Given the description of an element on the screen output the (x, y) to click on. 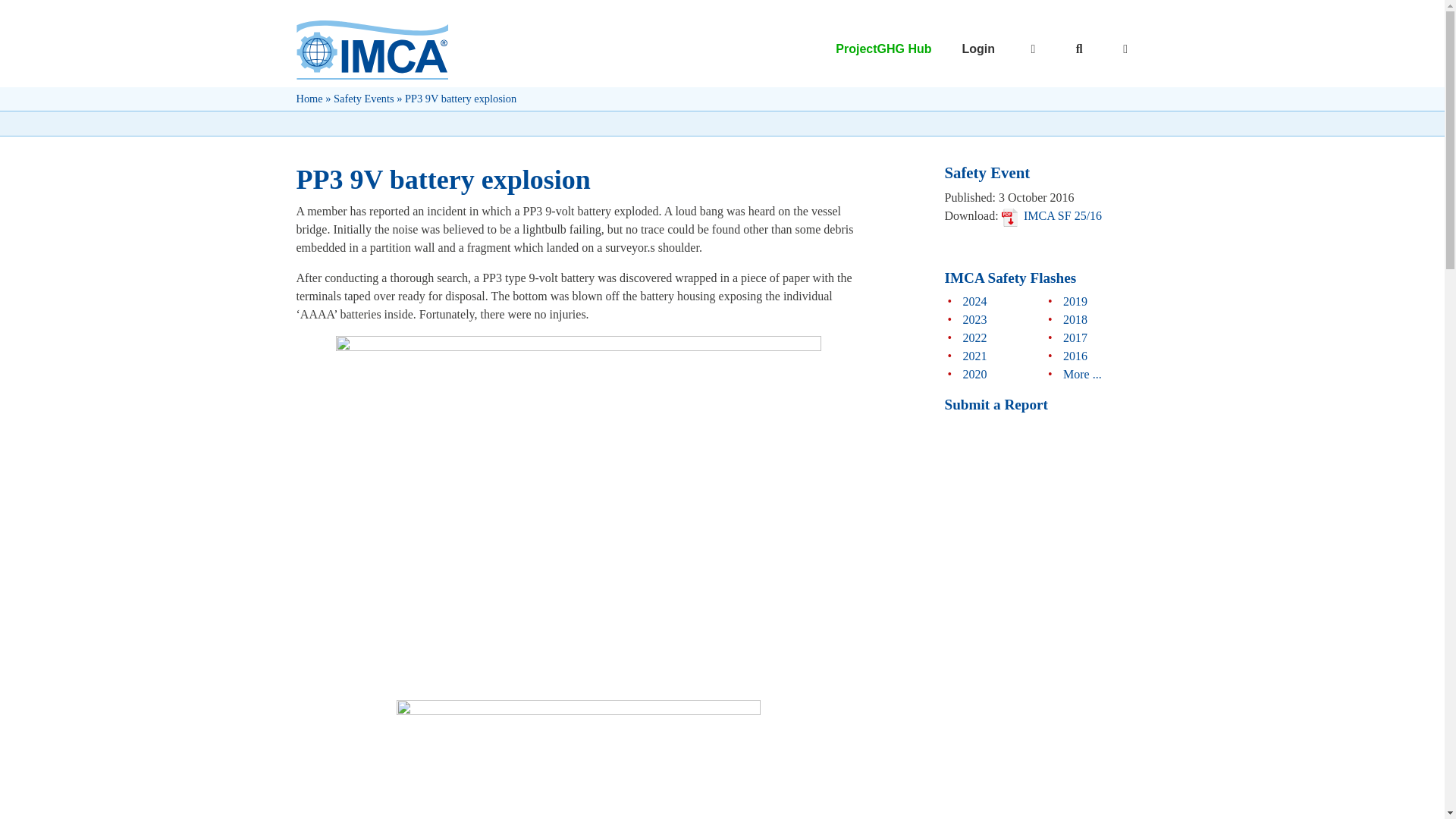
ProjectGHG Hub (883, 49)
Login (865, 49)
